Given the description of an element on the screen output the (x, y) to click on. 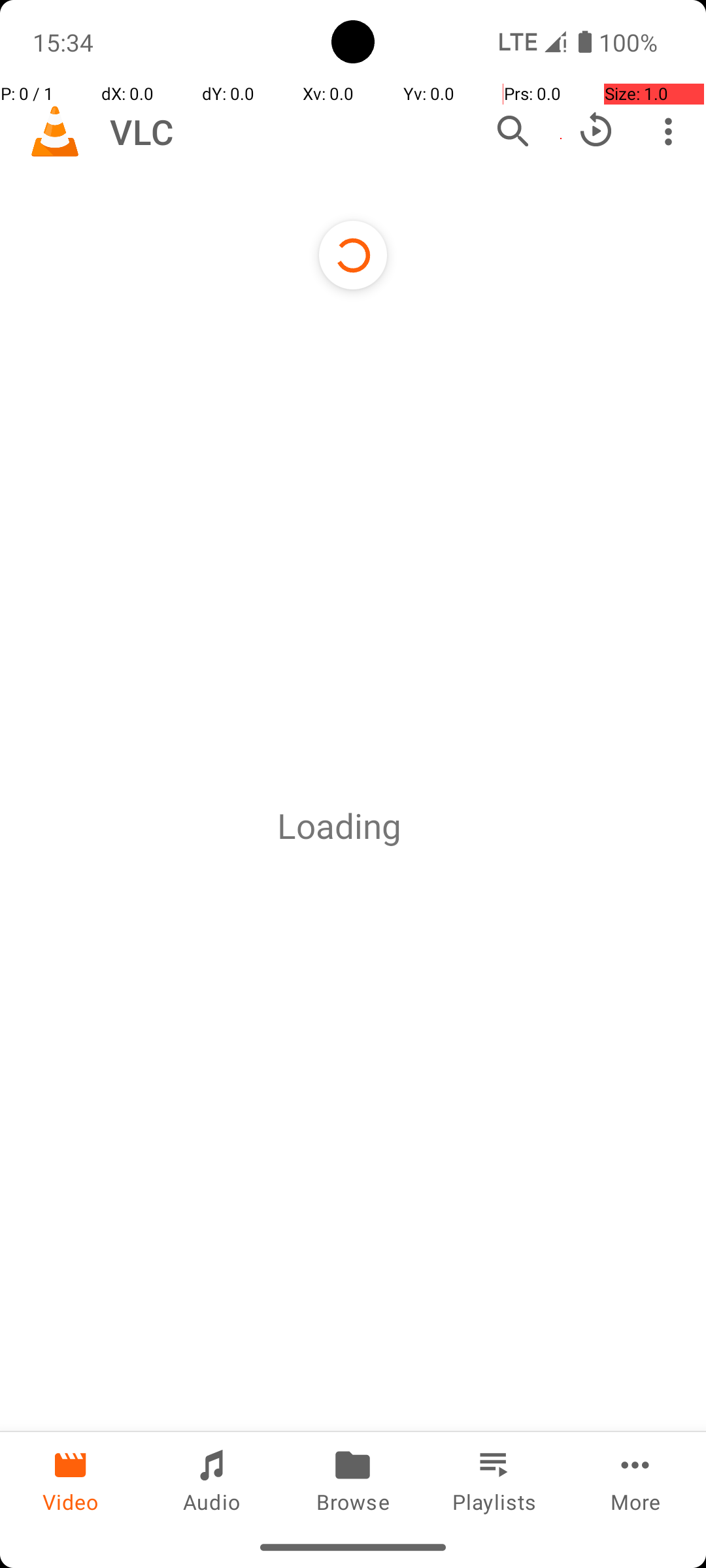
Resume playback Element type: android.widget.TextView (595, 131)
